Given the description of an element on the screen output the (x, y) to click on. 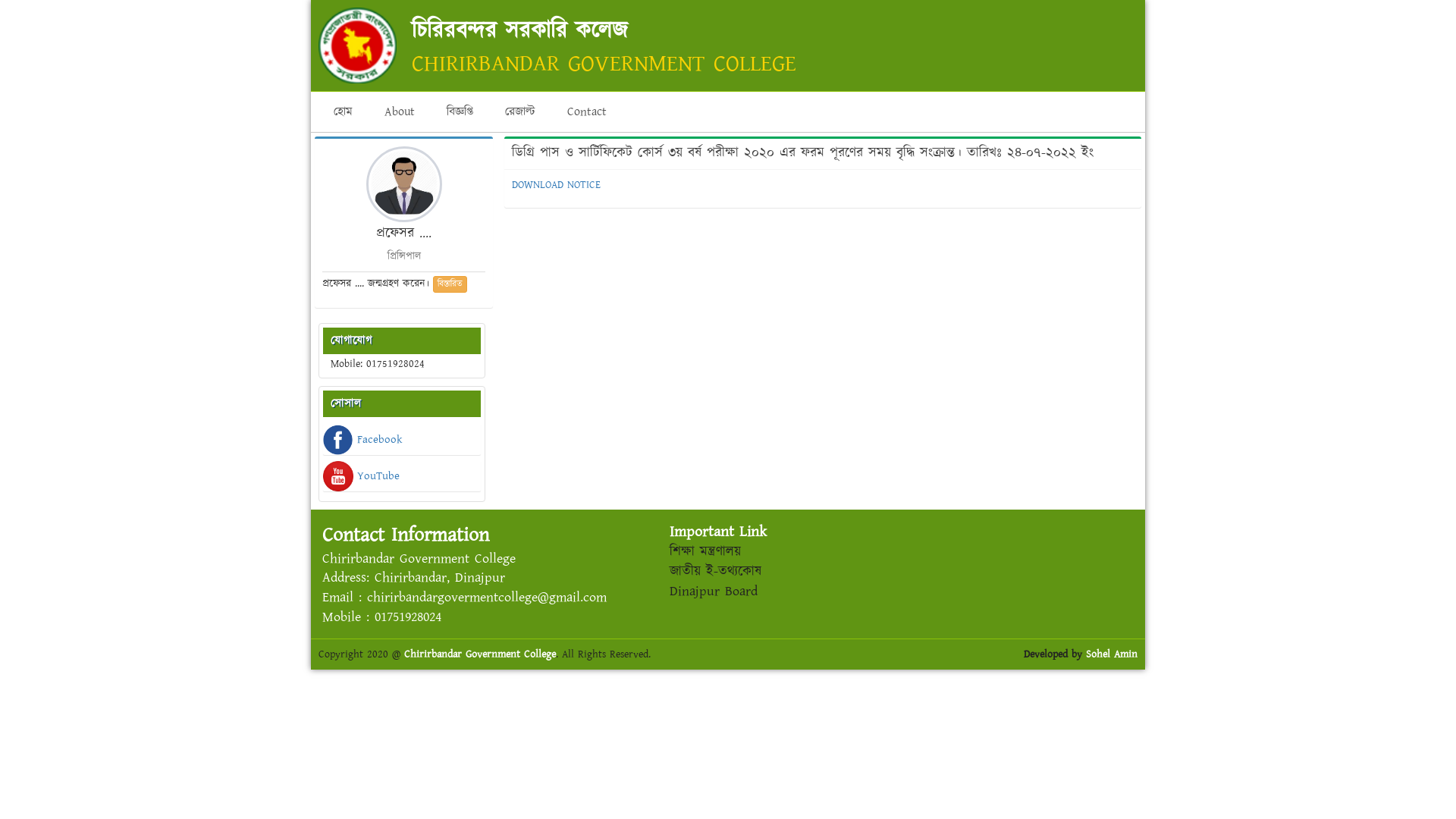
Contact Element type: text (586, 111)
DOWNLOAD NOTICE Element type: text (555, 184)
Chirirbandar Government College Element type: text (479, 654)
About Element type: text (399, 111)
Sohel Amin Element type: text (1111, 654)
Dinajpur Board Element type: text (713, 590)
YouTube Element type: text (401, 494)
Facebook Element type: text (401, 439)
